Given the description of an element on the screen output the (x, y) to click on. 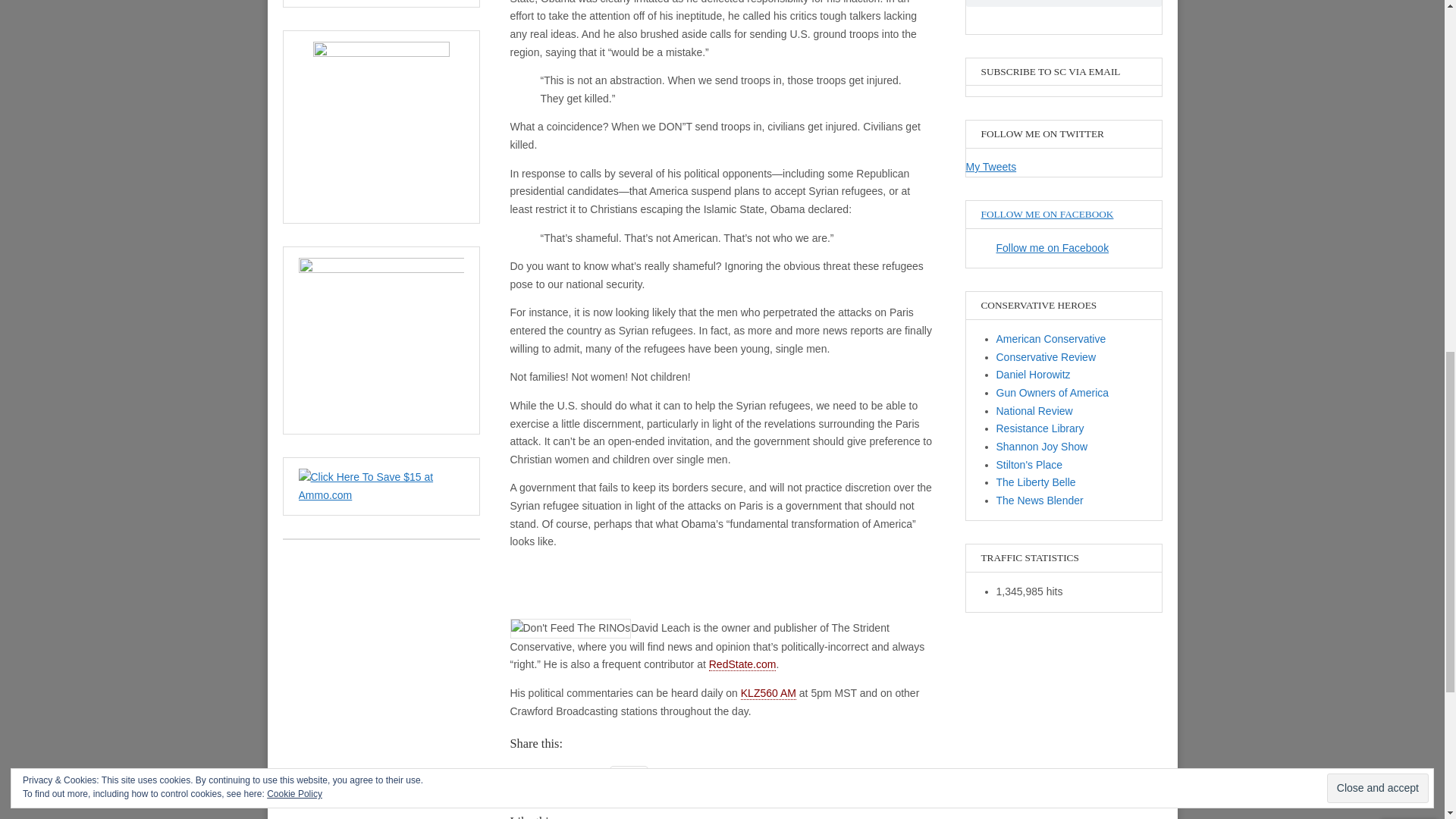
Click to share on Reddit (581, 774)
Email Address (1358, 167)
Click to share on LinkedIn (548, 774)
Click to share on Facebook (514, 774)
Click to share on Twitter (531, 774)
Click to share on Tumblr (598, 774)
Click to share on Pinterest (564, 774)
Sign me up! (1343, 195)
